Given the description of an element on the screen output the (x, y) to click on. 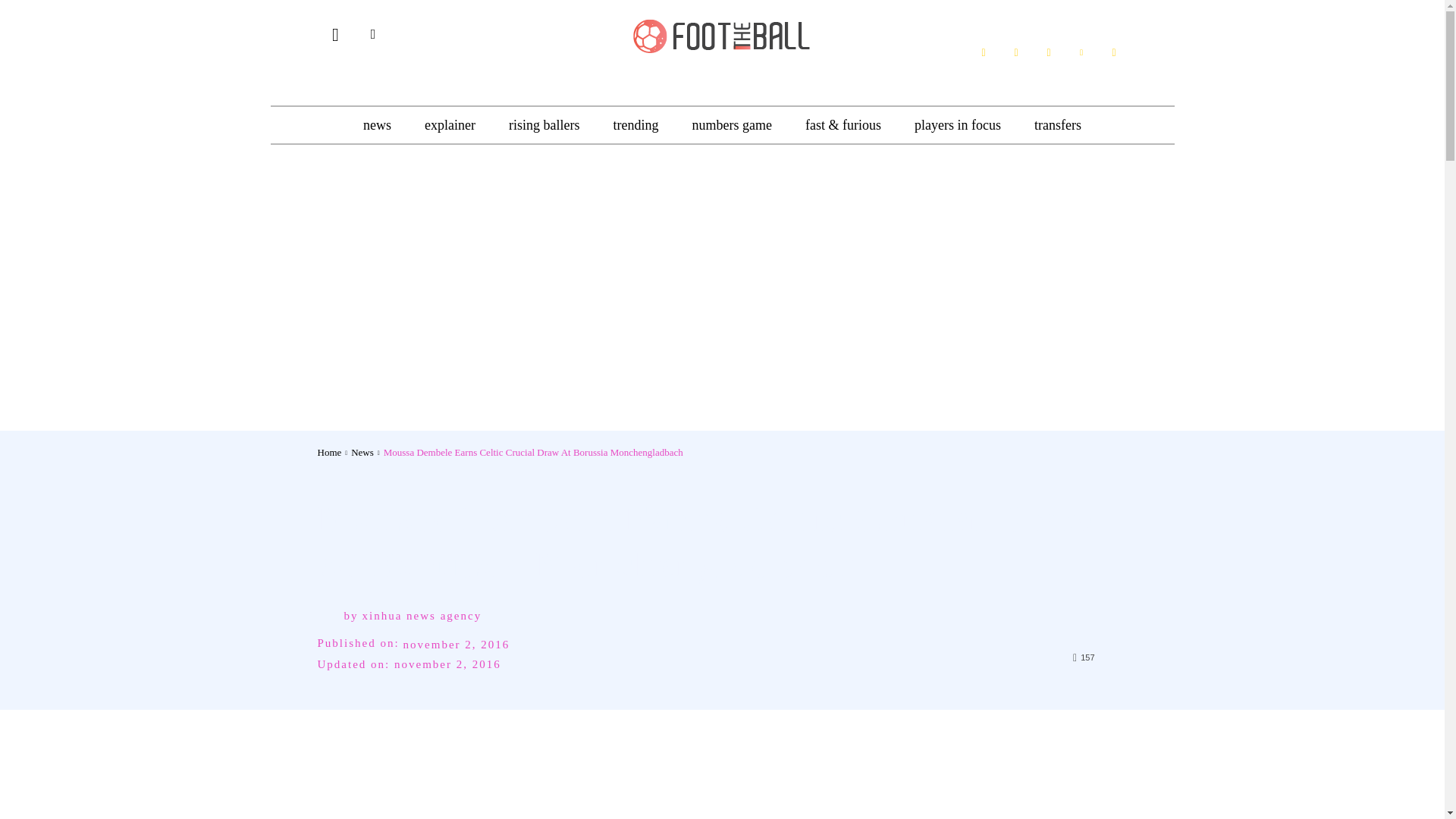
Facebook (982, 52)
View all posts in News (362, 451)
Xinhua News Agency (330, 614)
Youtube (1113, 52)
Foottheball (721, 34)
Flipboard (1016, 52)
Instagram (1048, 52)
Twitter (1080, 52)
